Given the description of an element on the screen output the (x, y) to click on. 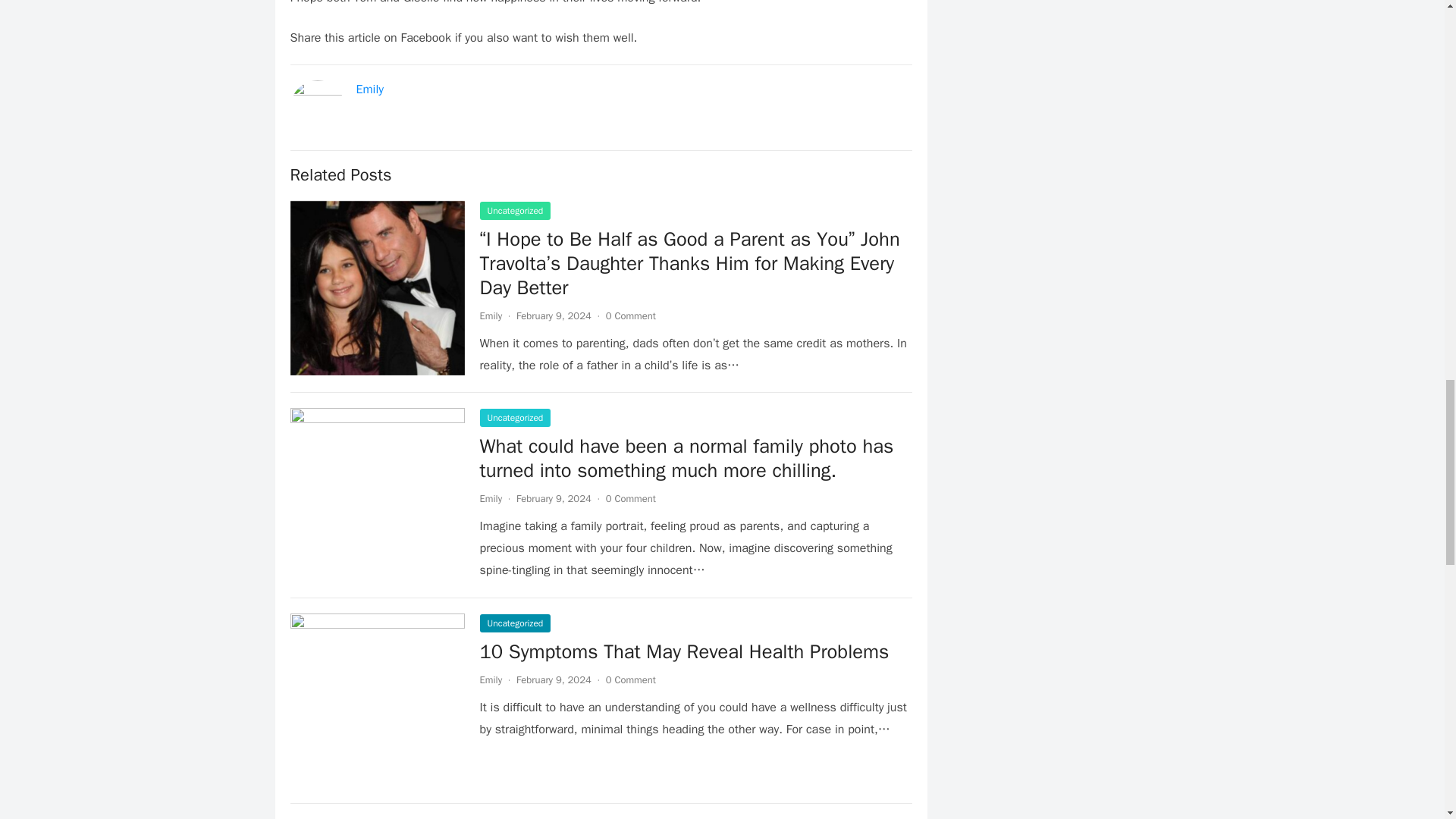
Uncategorized (514, 623)
Posts by Emily (490, 315)
Emily (490, 498)
Emily (370, 89)
Uncategorized (514, 417)
Posts by Emily (490, 498)
Emily (490, 315)
10 Symptoms That May Reveal Health Problems (683, 651)
Posts by Emily (490, 679)
